Given the description of an element on the screen output the (x, y) to click on. 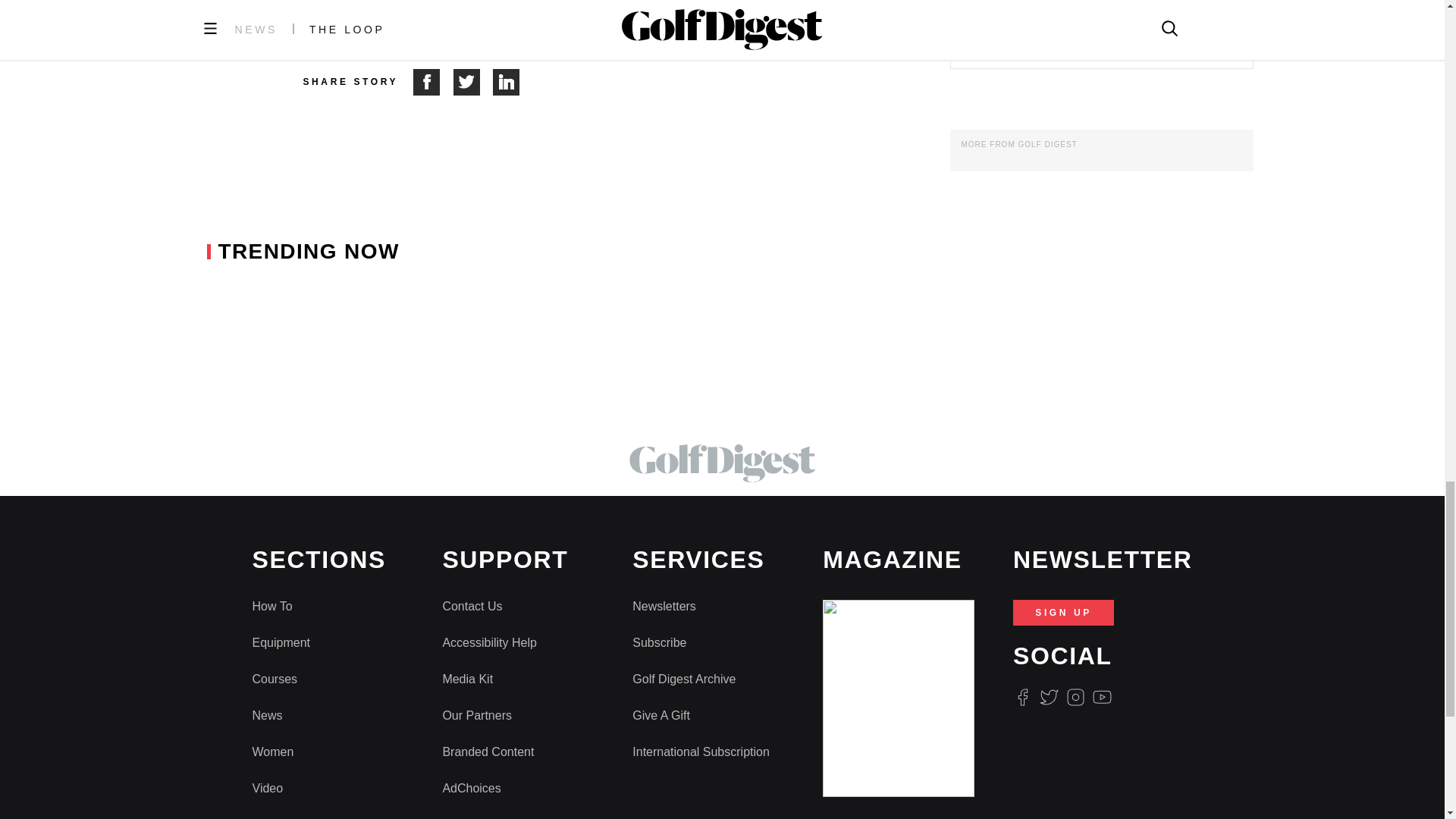
Twitter Logo (1048, 696)
Share on Twitter (472, 81)
Facebook Logo (1022, 696)
Instagram Logo (1074, 696)
Share on LinkedIn (506, 81)
Share on Facebook (432, 81)
Youtube Icon (1102, 696)
